Given the description of an element on the screen output the (x, y) to click on. 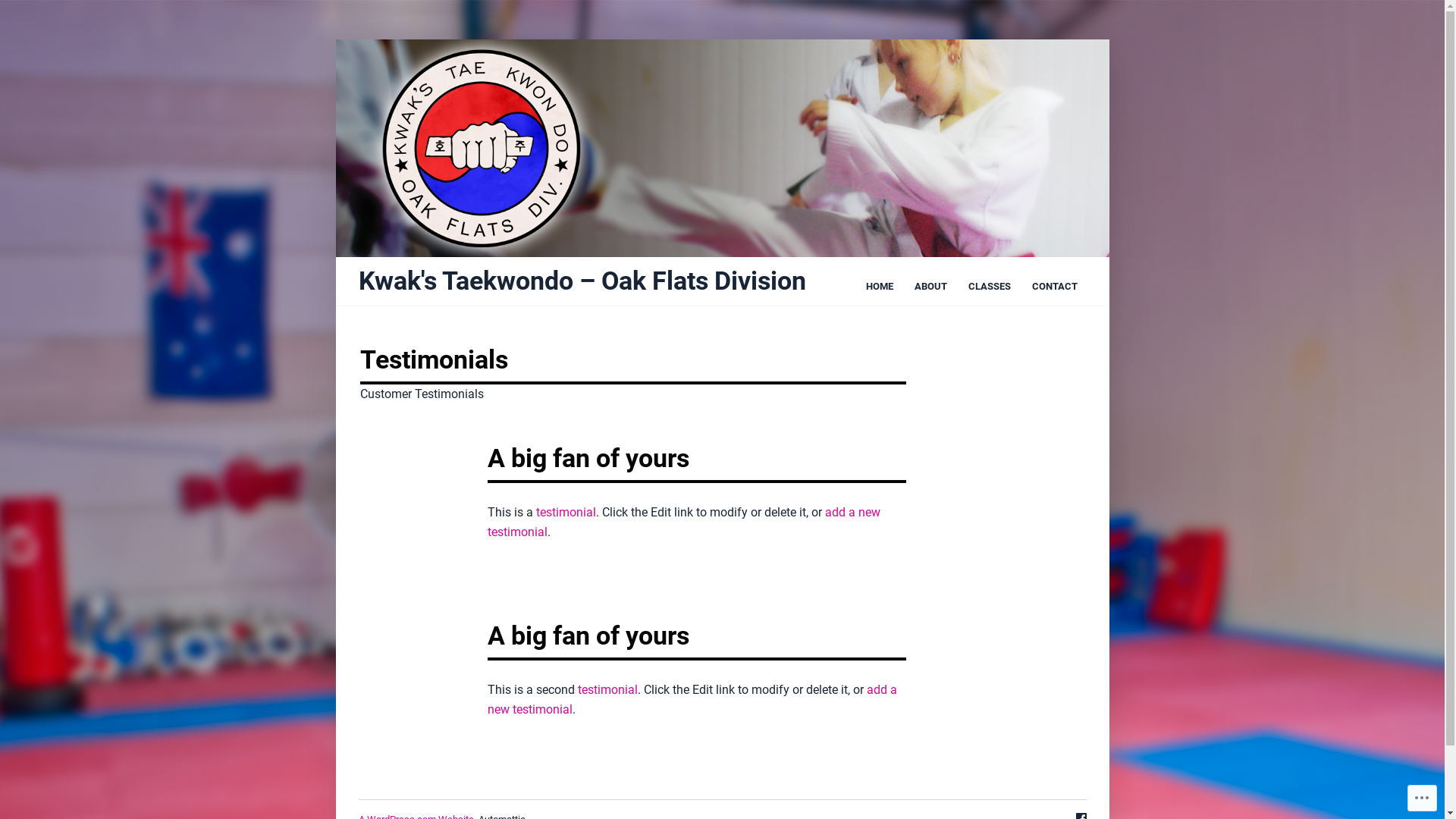
testimonial Element type: text (566, 512)
A big fan of yours Element type: text (588, 457)
add a new testimonial Element type: text (692, 699)
ABOUT Element type: text (930, 286)
CONTACT Element type: text (1053, 286)
testimonial Element type: text (607, 689)
HOME Element type: text (879, 286)
CLASSES Element type: text (988, 286)
A big fan of yours Element type: text (588, 635)
add a new testimonial Element type: text (683, 522)
